Given the description of an element on the screen output the (x, y) to click on. 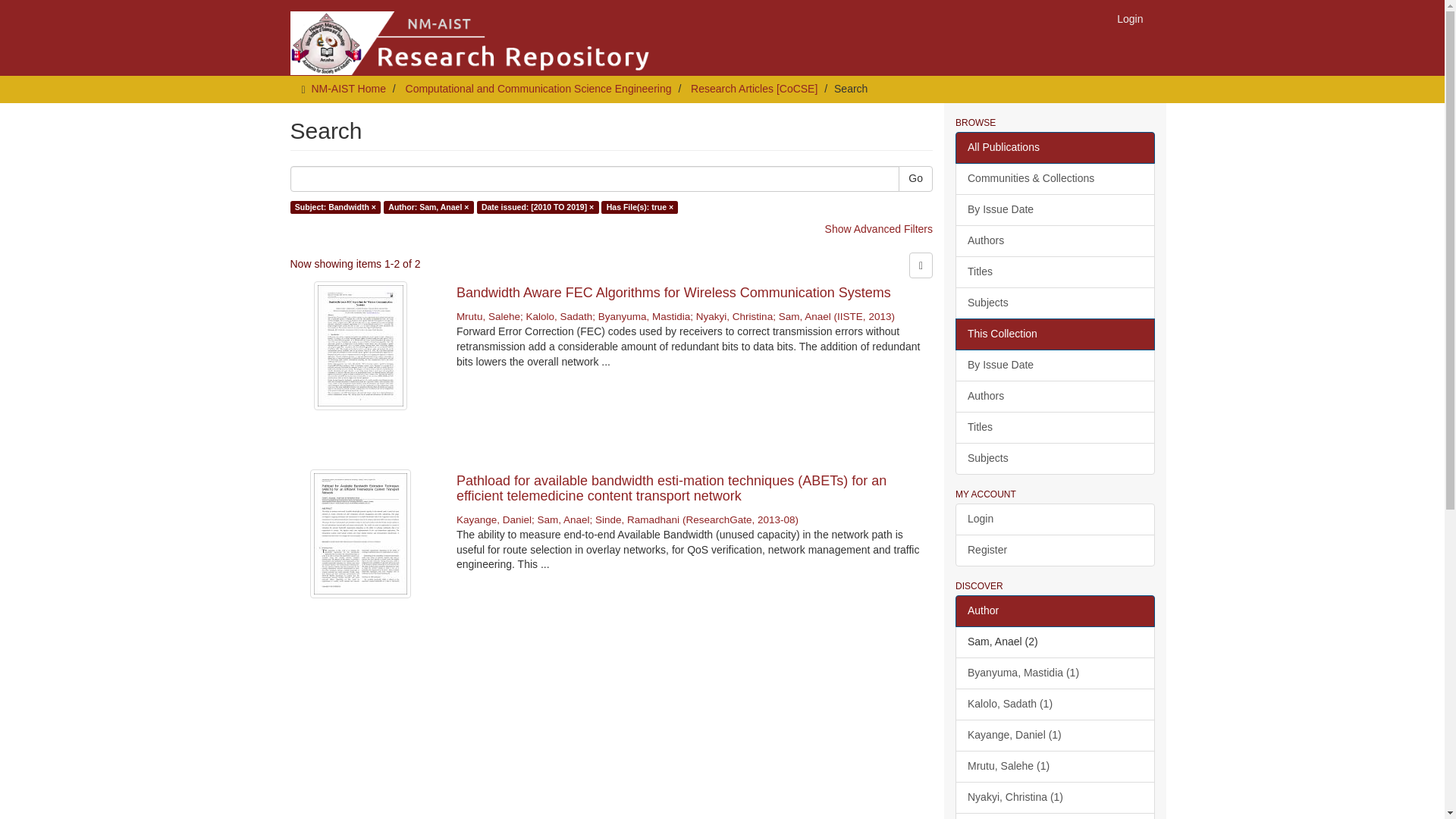
Computational and Communication Science Engineering (538, 88)
NM-AIST Home (348, 88)
Login (1129, 18)
Go (915, 178)
Show Advanced Filters (879, 228)
